Given the description of an element on the screen output the (x, y) to click on. 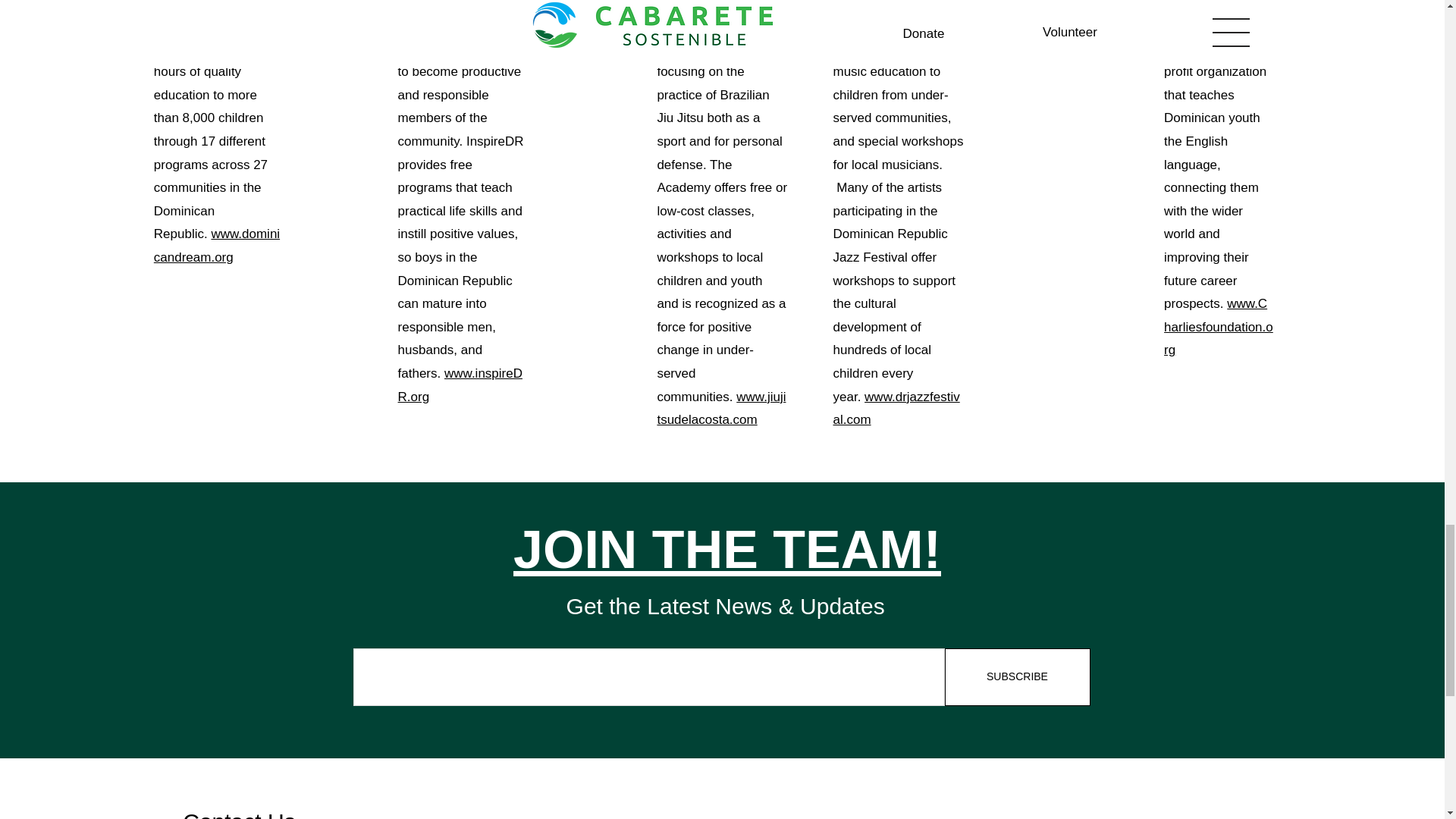
SUBSCRIBE (1017, 676)
JOIN THE TEAM! (726, 549)
www.Charliesfoundation.org (1217, 326)
www.inspireDR.org (459, 385)
www.drjazzfestival.com (895, 408)
www.dominicandream.org (216, 245)
www.jiujitsudelacosta.com (721, 408)
